Given the description of an element on the screen output the (x, y) to click on. 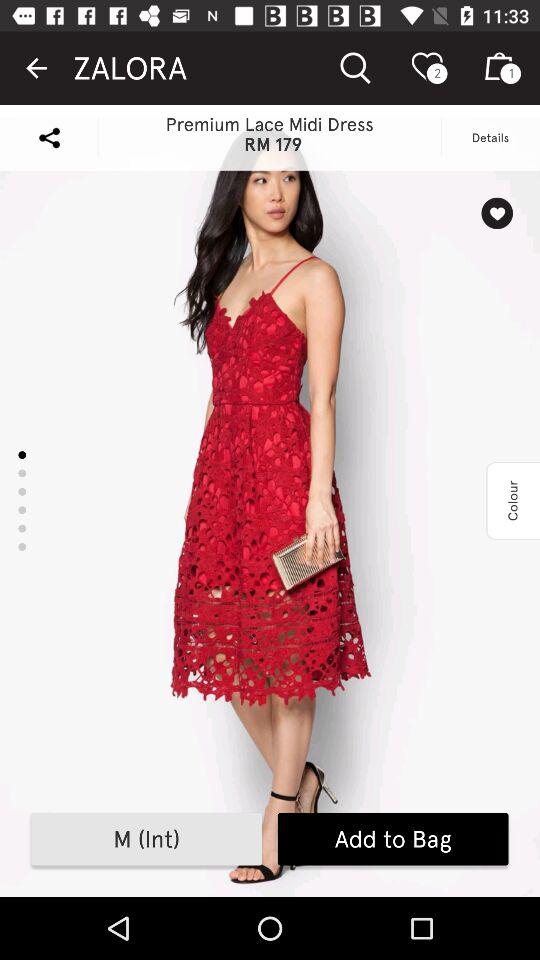
click on wishlist icon (497, 213)
select the search option (355, 67)
click on the icon which is beside zalora (356, 67)
select the like button next to the search (430, 67)
